Given the description of an element on the screen output the (x, y) to click on. 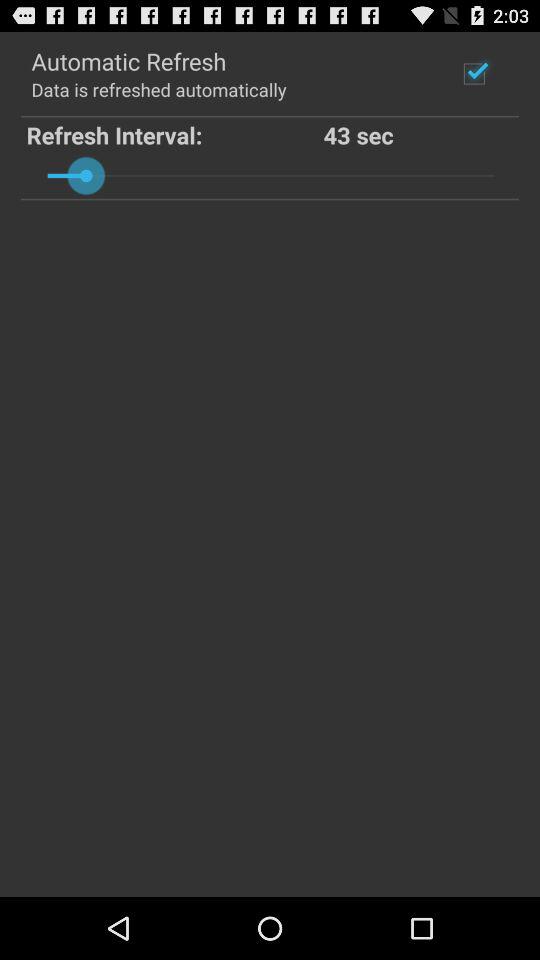
flip to data is refreshed item (158, 88)
